Given the description of an element on the screen output the (x, y) to click on. 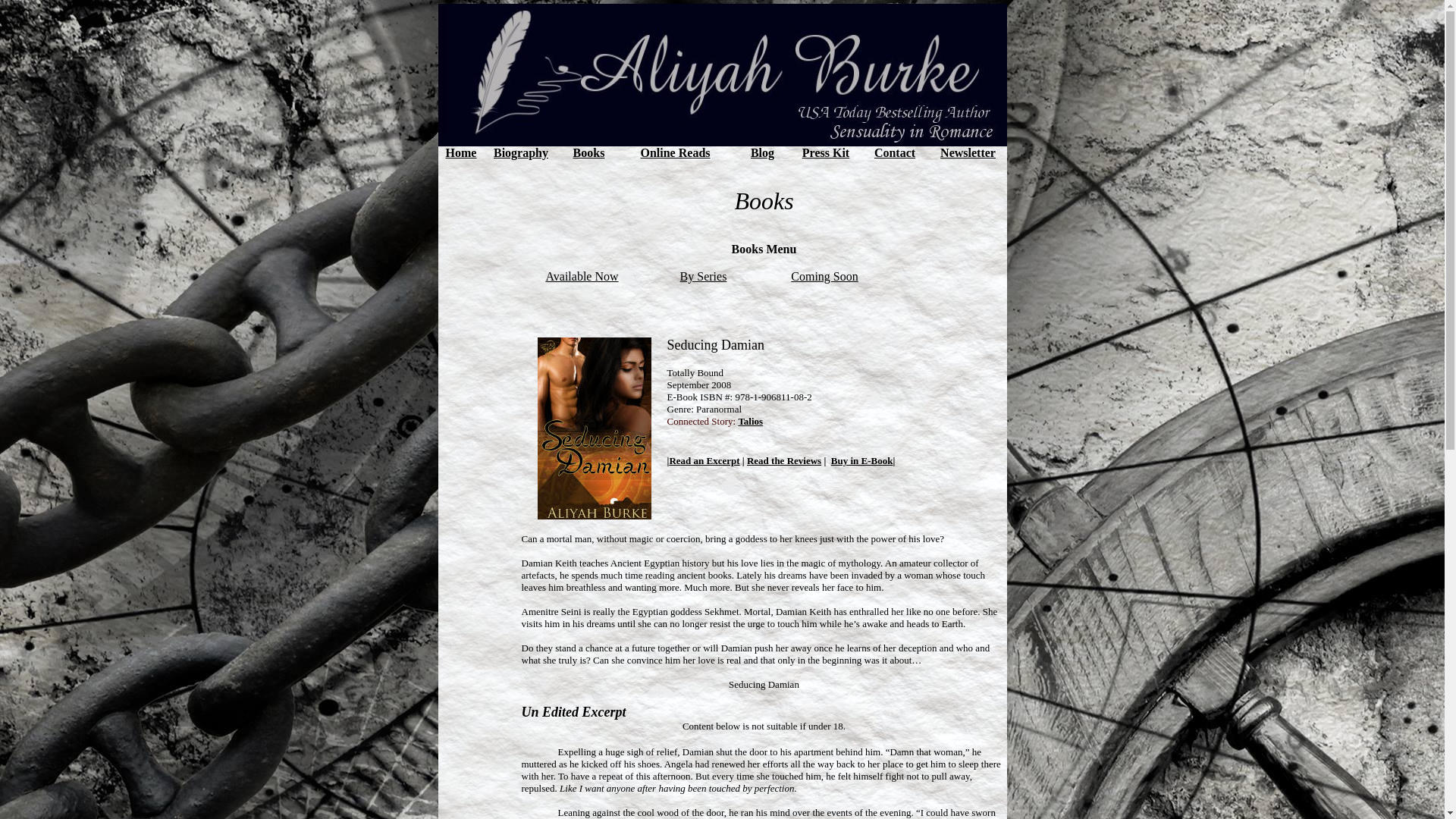
Books (589, 152)
Blog (762, 152)
Read an Excerpt (703, 460)
Home (461, 152)
Online Reads (675, 152)
Newsletter (967, 152)
Read the Reviews (783, 460)
Available Now (580, 276)
Talios (750, 420)
Buy in E-Book (862, 460)
Biography (520, 152)
Coming Soon (823, 276)
Excerpt (604, 711)
By Series (702, 276)
Press Kit (825, 152)
